Given the description of an element on the screen output the (x, y) to click on. 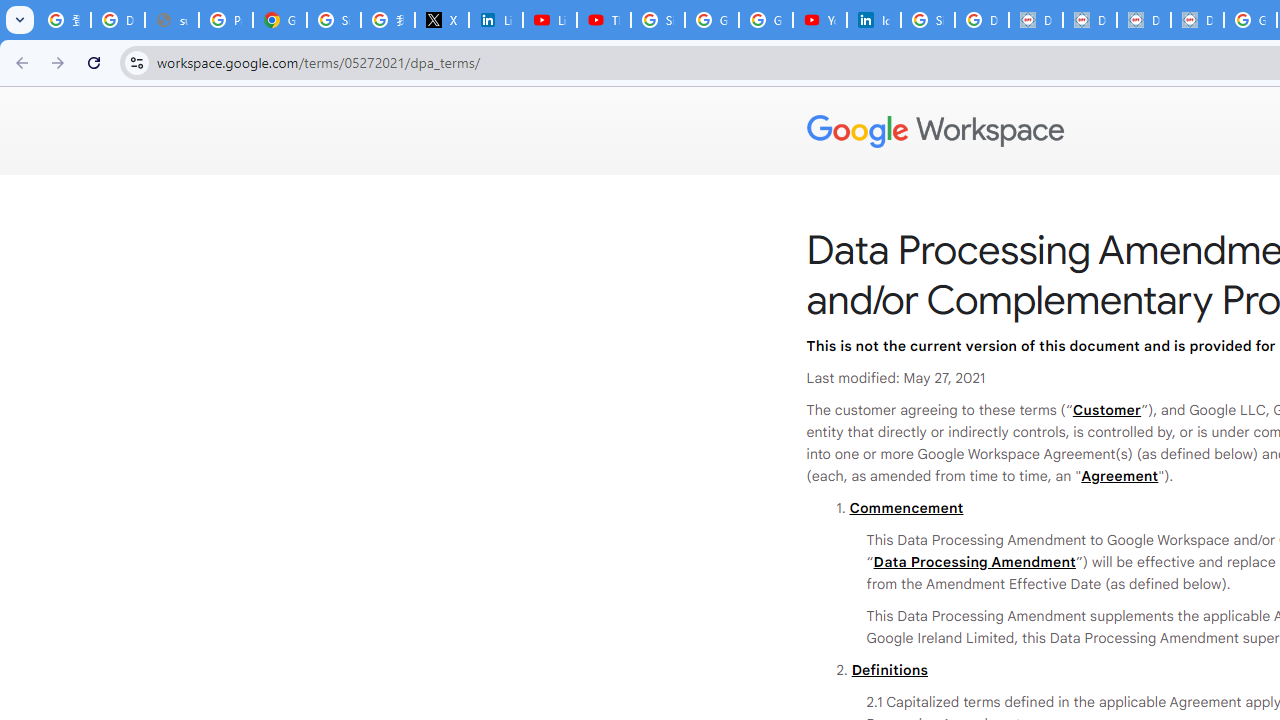
Data Privacy Framework (1035, 20)
X (441, 20)
Sign in - Google Accounts (657, 20)
LinkedIn Privacy Policy (495, 20)
